Given the description of an element on the screen output the (x, y) to click on. 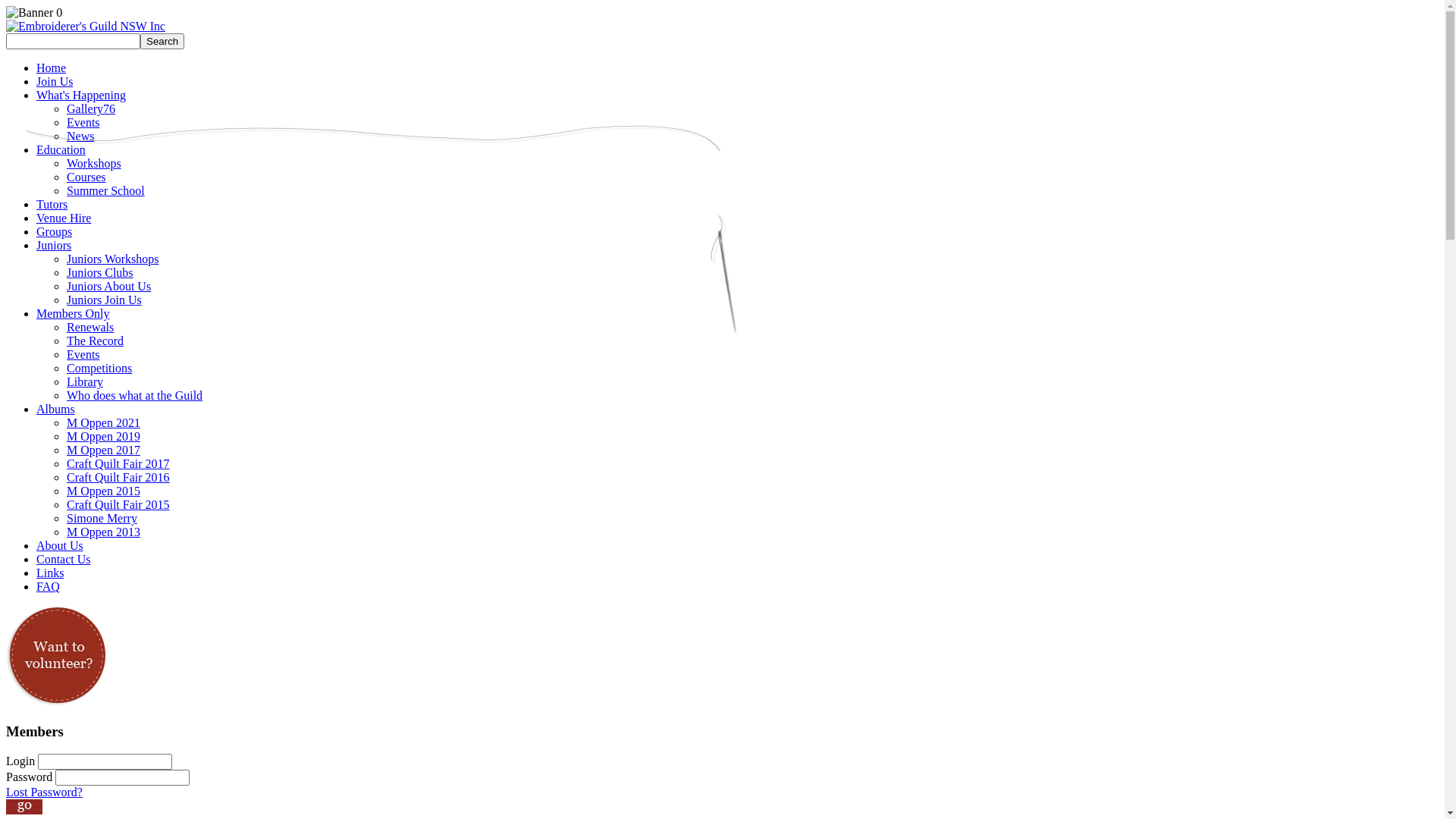
Venue Hire Element type: text (63, 217)
Juniors About Us Element type: text (108, 285)
Juniors Clubs Element type: text (99, 272)
Craft Quilt Fair 2017 Element type: text (117, 463)
Juniors Element type: text (53, 244)
Members Only Element type: text (72, 313)
Renewals Element type: text (89, 326)
M Oppen 2015 Element type: text (103, 490)
Courses Element type: text (86, 176)
News Element type: text (80, 135)
Lost Password? Element type: text (44, 791)
Join Us Element type: text (54, 81)
Library Element type: text (84, 381)
Craft Quilt Fair 2016 Element type: text (117, 476)
M Oppen 2021 Element type: text (103, 422)
Links Element type: text (49, 572)
About Us Element type: text (59, 545)
Who does what at the Guild Element type: text (134, 395)
Juniors Join Us Element type: text (103, 299)
Summer School Element type: text (105, 190)
Events Element type: text (83, 122)
FAQ Element type: text (47, 586)
Craft Quilt Fair 2015 Element type: text (117, 504)
Simone Merry Element type: text (101, 517)
Groups Element type: text (54, 231)
M Oppen 2019 Element type: text (103, 435)
Tutors Element type: text (51, 203)
Juniors Workshops Element type: text (112, 258)
Gallery76 Element type: text (90, 108)
M Oppen 2017 Element type: text (103, 449)
What's Happening Element type: text (80, 94)
Albums Element type: text (55, 408)
Events Element type: text (83, 354)
Competitions Element type: text (98, 367)
Home Element type: text (50, 67)
M Oppen 2013 Element type: text (103, 531)
Workshops Element type: text (93, 162)
Search Element type: text (162, 41)
Contact Us Element type: text (63, 558)
The Record Element type: text (94, 340)
Education Element type: text (60, 149)
